Given the description of an element on the screen output the (x, y) to click on. 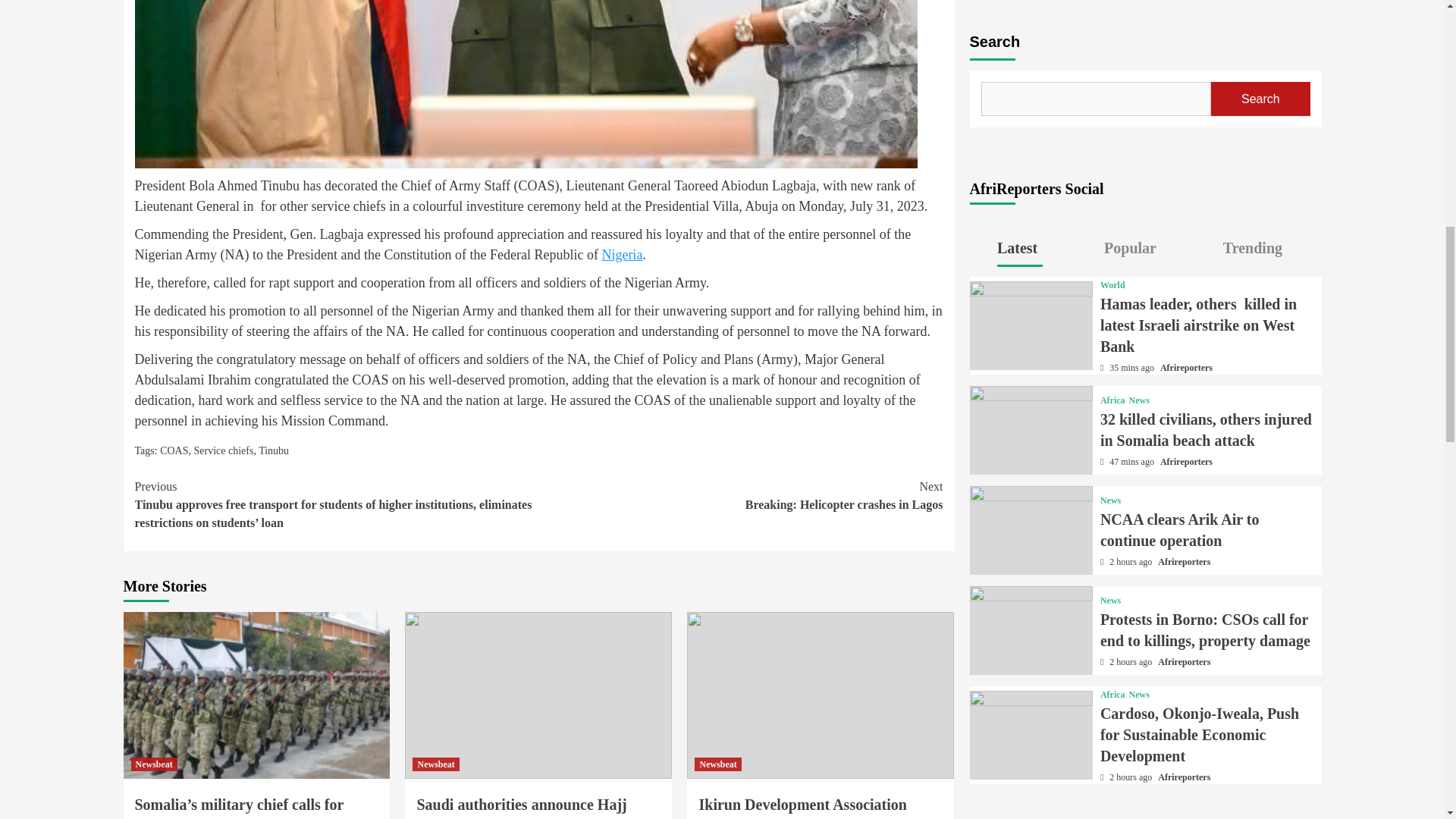
Newsbeat (740, 495)
Nigeria (717, 764)
Tinubu (621, 254)
Newsbeat (273, 450)
Newsbeat (435, 764)
COAS (153, 764)
Service chiefs (173, 450)
